Given the description of an element on the screen output the (x, y) to click on. 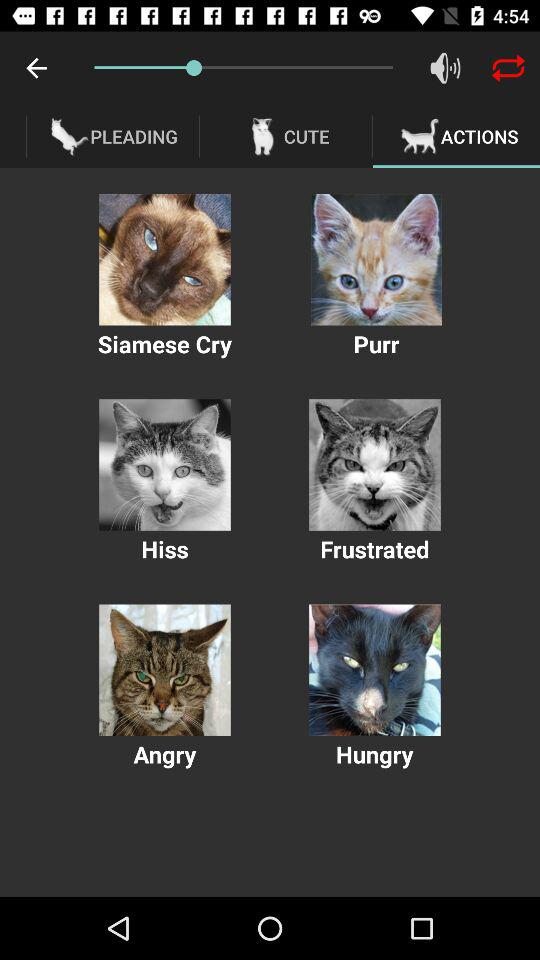
select the hiss action (164, 464)
